Given the description of an element on the screen output the (x, y) to click on. 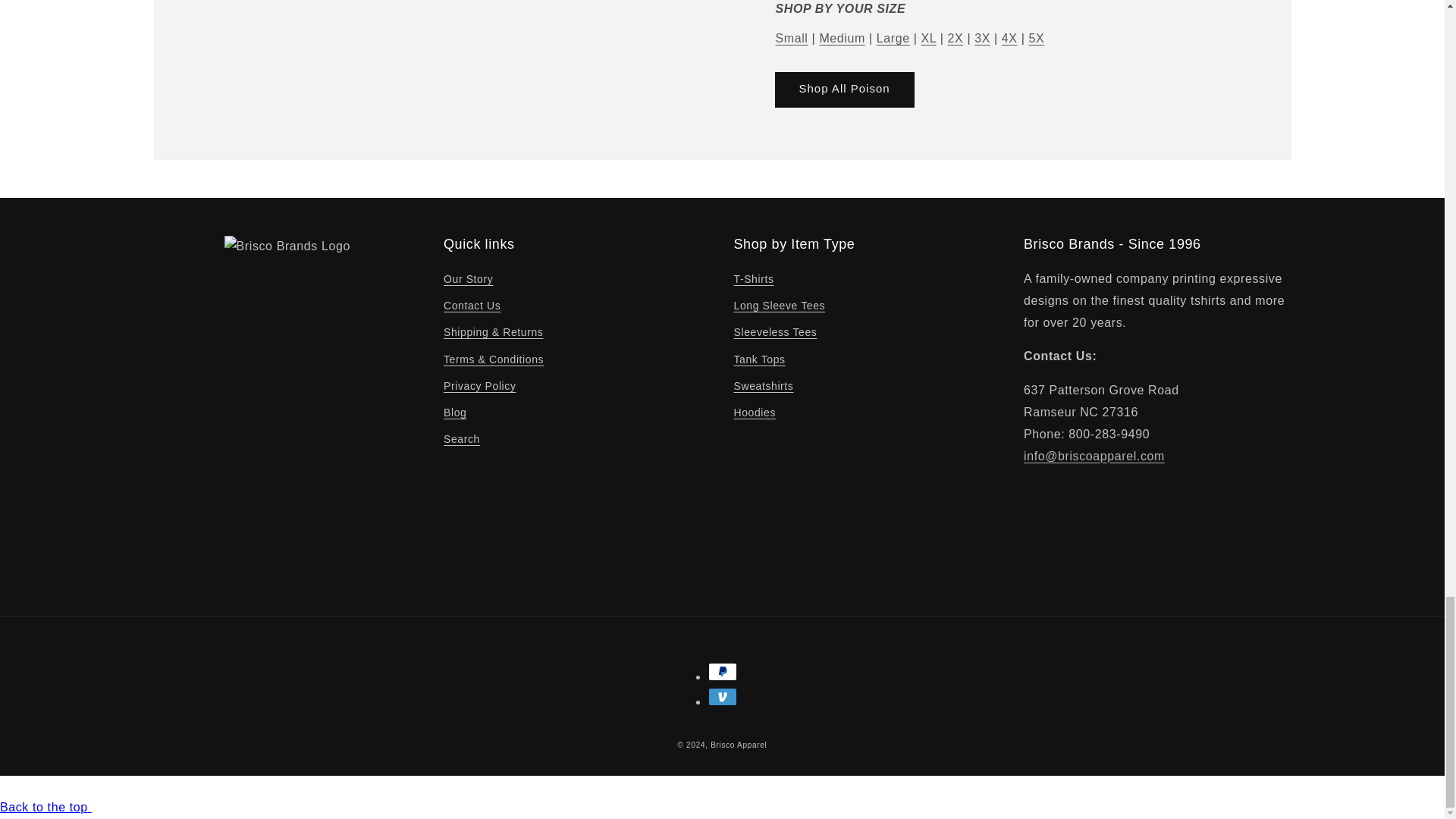
Poison Large (893, 38)
Poison Medium (841, 38)
PayPal (721, 671)
Poison 5X (1035, 38)
Poison 4X (1009, 38)
Venmo (721, 696)
Poison Small (791, 38)
Poison X-Large (928, 38)
Poison 2X (955, 38)
Poison 3X (982, 38)
